Given the description of an element on the screen output the (x, y) to click on. 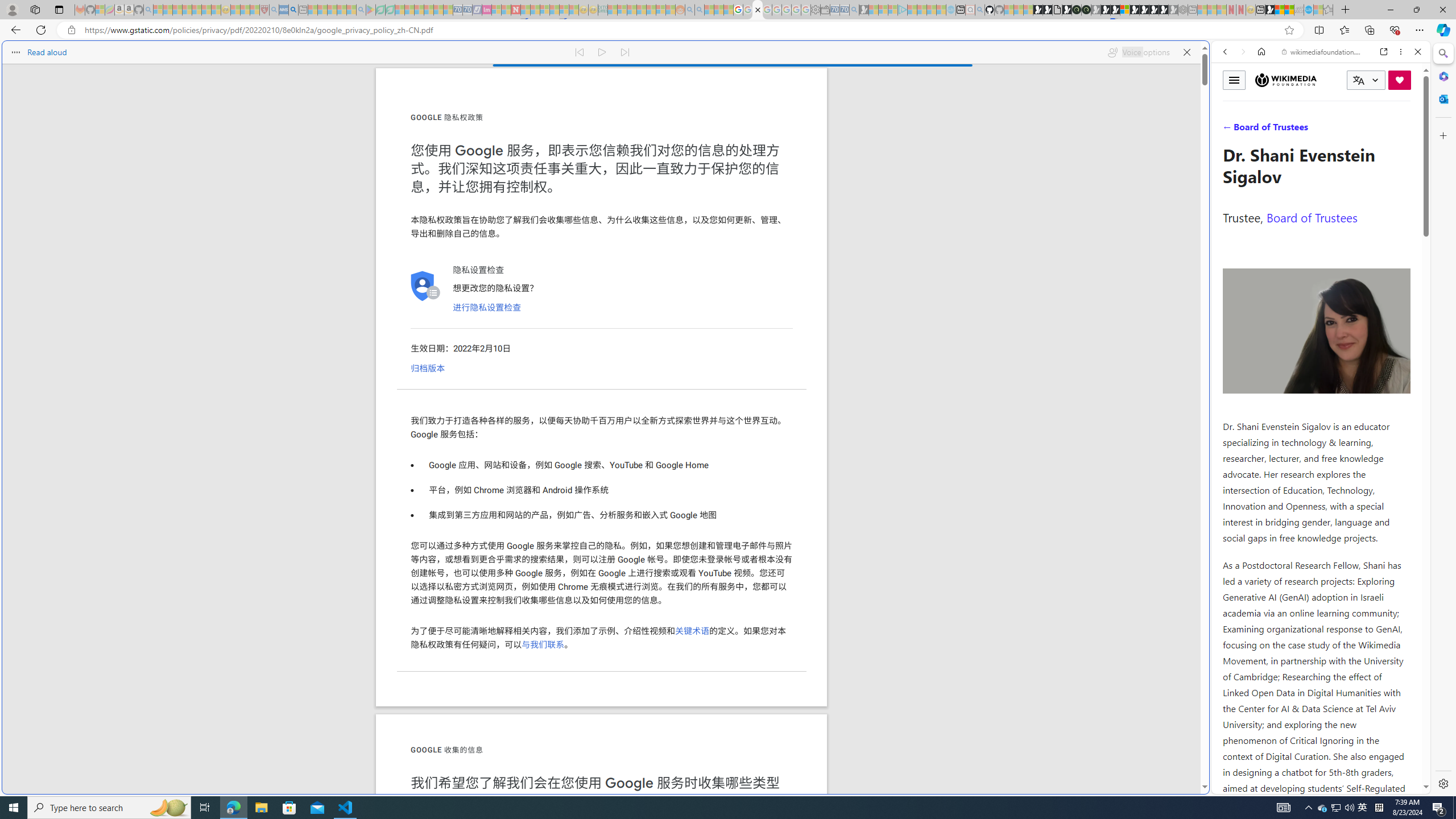
Read previous paragraph (579, 52)
Earth has six continents not seven, radical new study claims (1288, 9)
Close split screen (1208, 57)
